Given the description of an element on the screen output the (x, y) to click on. 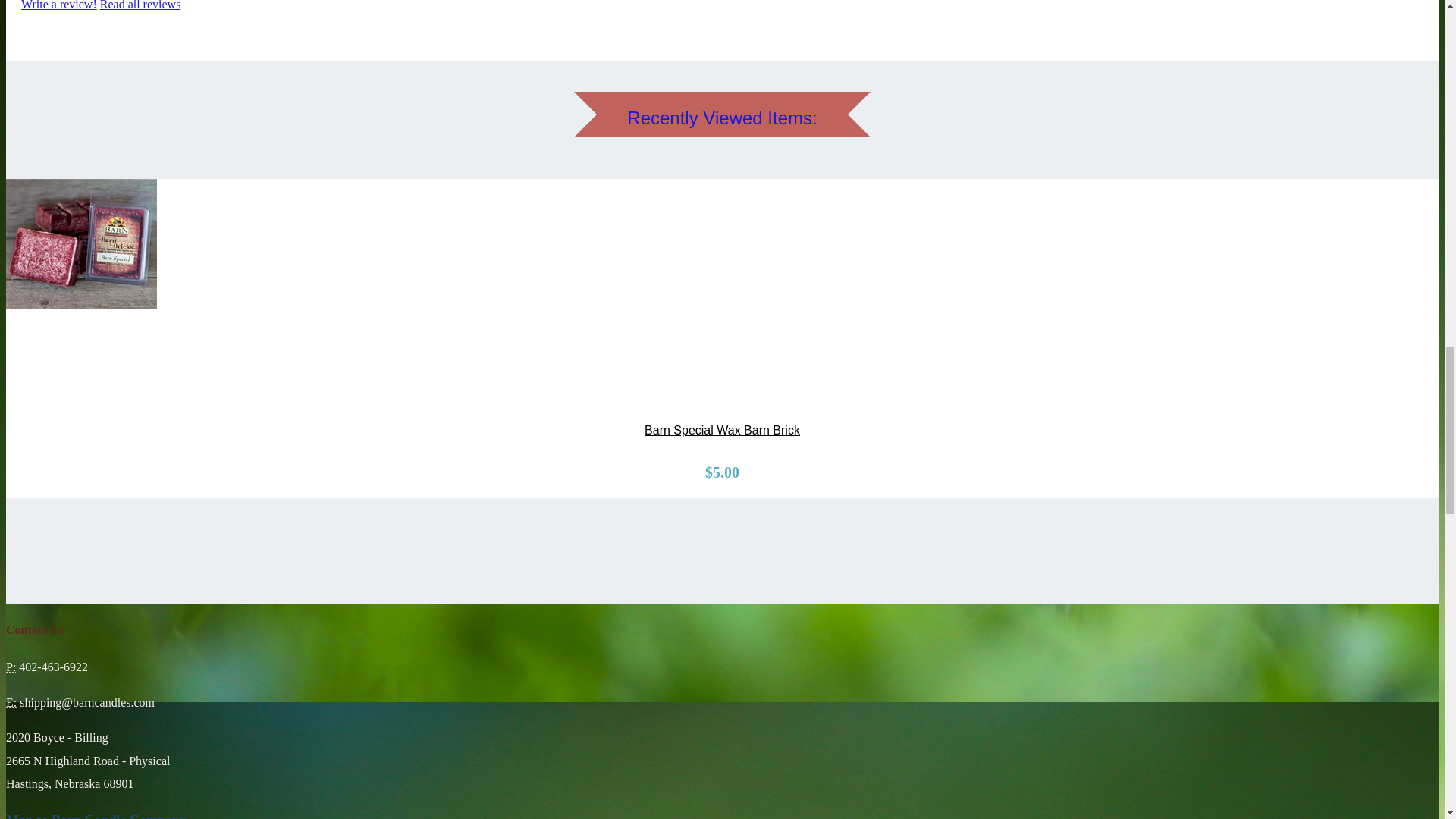
Write a review! (59, 5)
Read all reviews (140, 5)
